Given the description of an element on the screen output the (x, y) to click on. 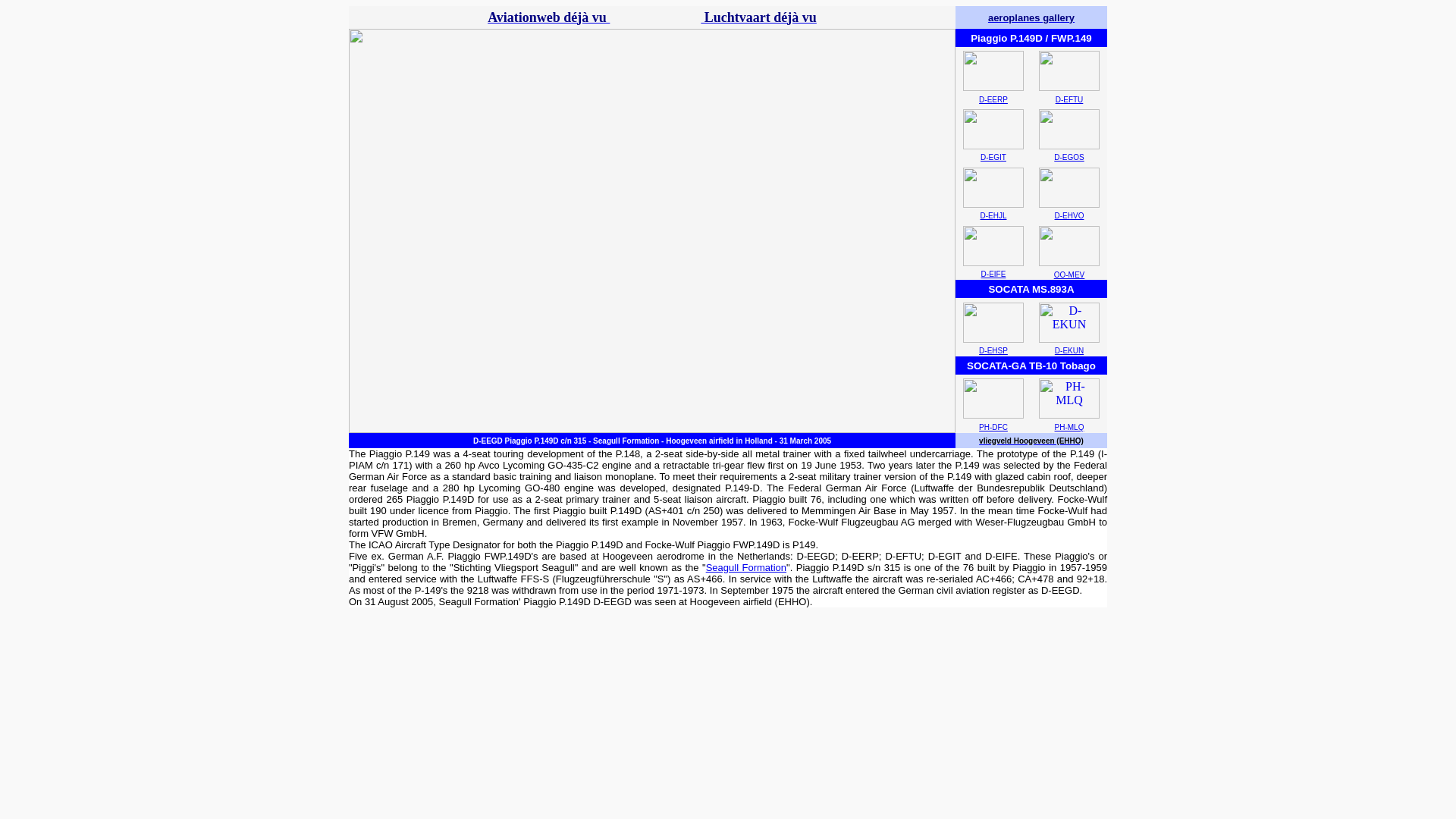
OO-MEV (1069, 275)
D-EHVO (1069, 215)
PH-DFC (992, 427)
D-EHJL (992, 215)
PH-MLQ (1069, 427)
D-EGIT (992, 157)
D-EERP (992, 99)
aeroplanes gallery (1031, 17)
D-EIFE (993, 274)
D-EGOS (1068, 157)
D-EKUN (1068, 350)
D-EHSP (992, 350)
D-EFTU (1069, 99)
Seagull Formation (746, 567)
